Given the description of an element on the screen output the (x, y) to click on. 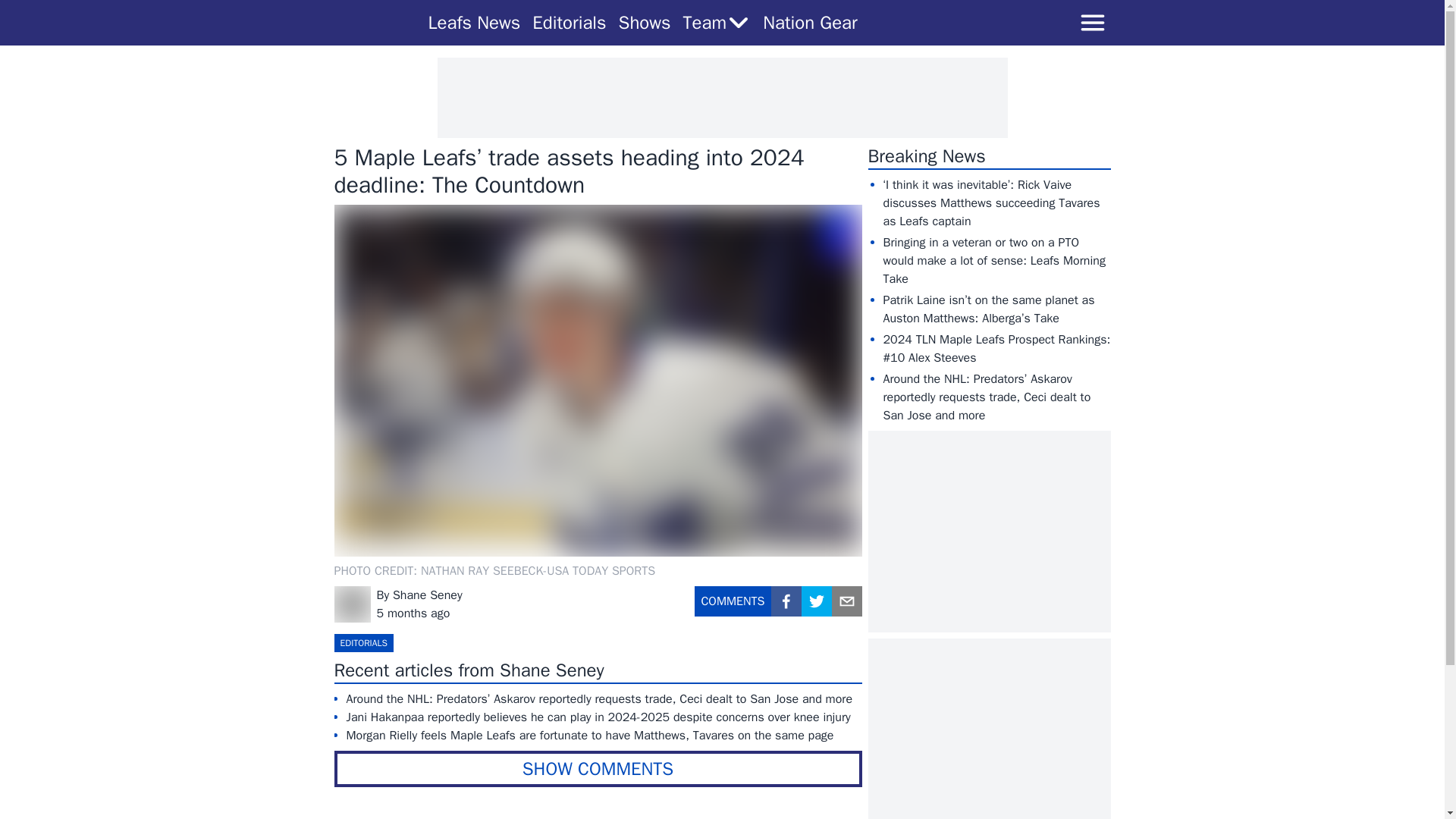
Shows (644, 22)
Editorials (568, 22)
COMMENTS (732, 606)
Shane Seney (428, 595)
EDITORIALS (363, 642)
Leafs News (473, 22)
SHOW COMMENTS (597, 769)
